Given the description of an element on the screen output the (x, y) to click on. 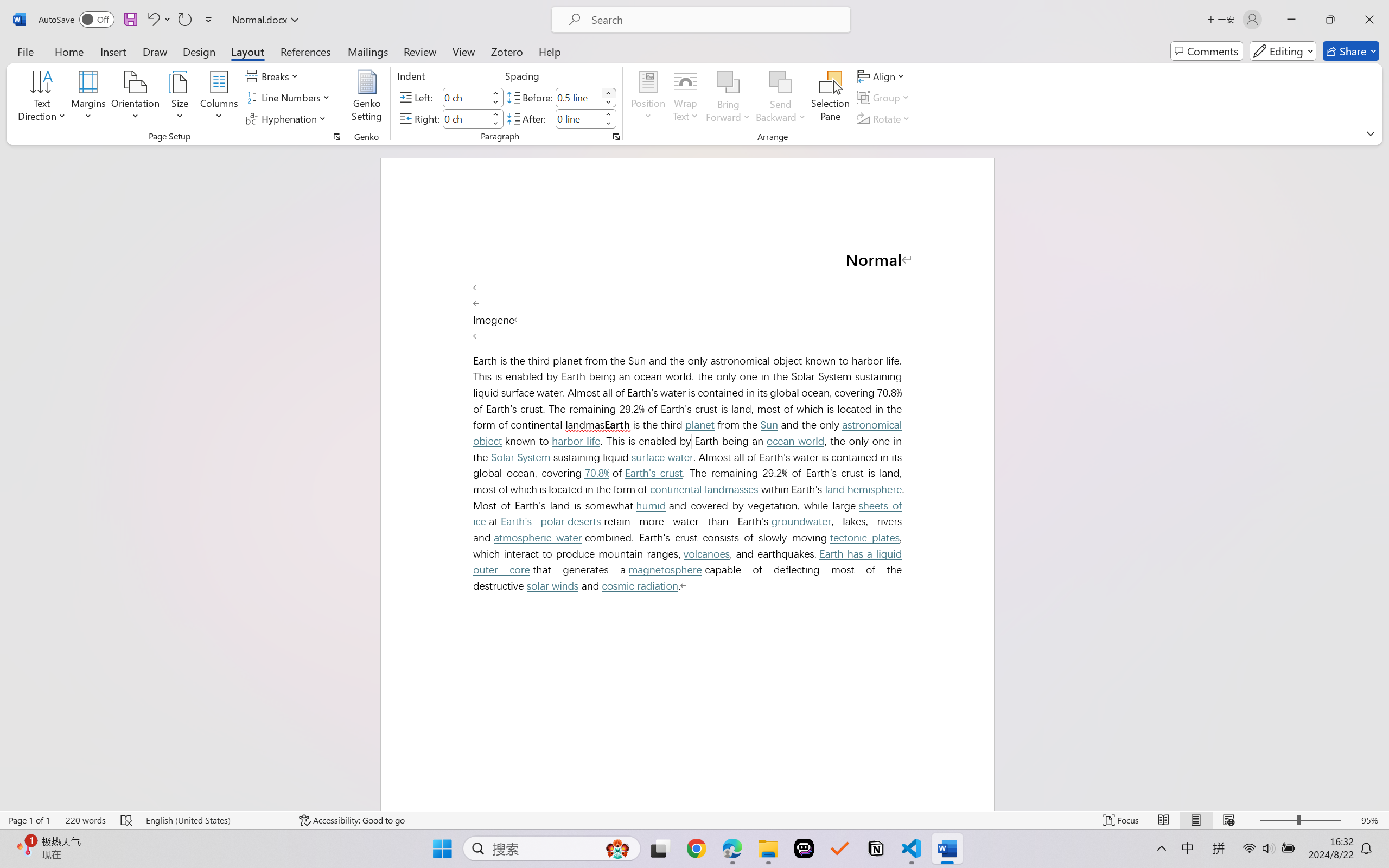
Solar System (520, 457)
Bring Forward (728, 97)
Wrap Text (685, 97)
Send Backward (781, 97)
solar winds (551, 585)
planet (698, 424)
deserts (584, 520)
Less (608, 123)
